Given the description of an element on the screen output the (x, y) to click on. 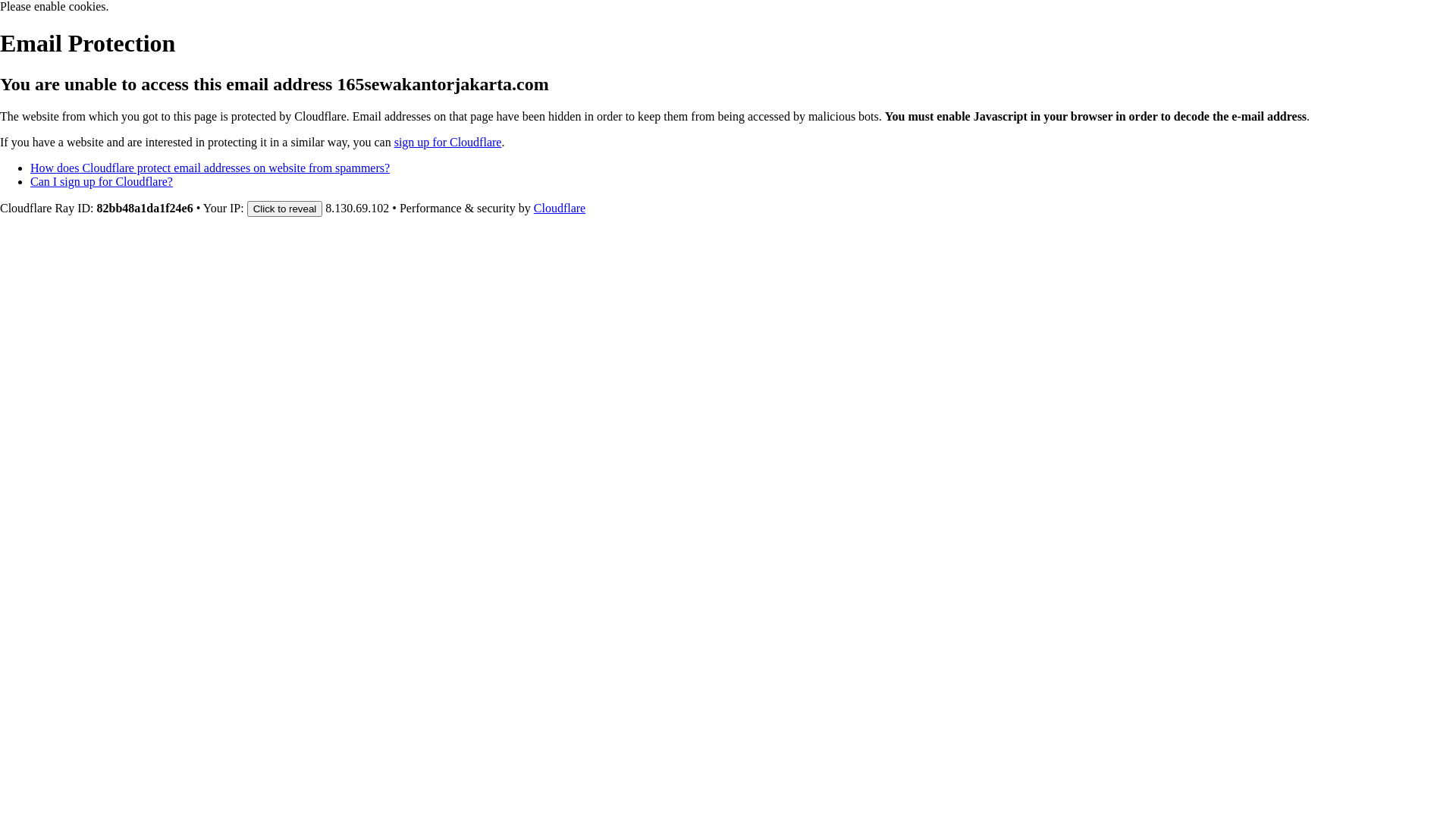
sign up for Cloudflare Element type: text (448, 141)
Can I sign up for Cloudflare? Element type: text (101, 181)
Click to reveal Element type: text (285, 208)
Cloudflare Element type: text (559, 207)
